Given the description of an element on the screen output the (x, y) to click on. 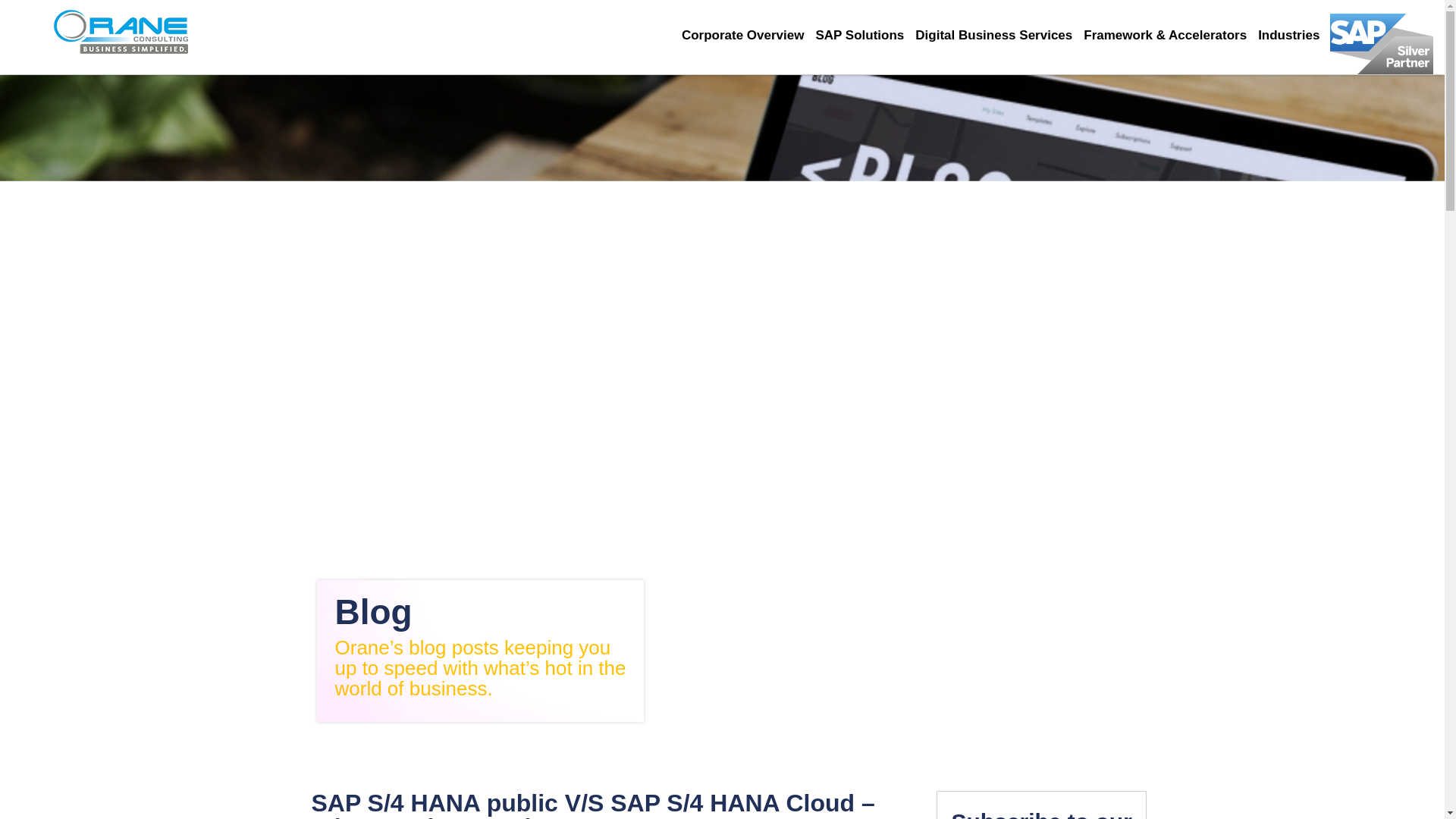
SAP Solutions (865, 35)
Corporate Overview (748, 35)
Industries (1293, 35)
Digital Business Services (999, 35)
